Given the description of an element on the screen output the (x, y) to click on. 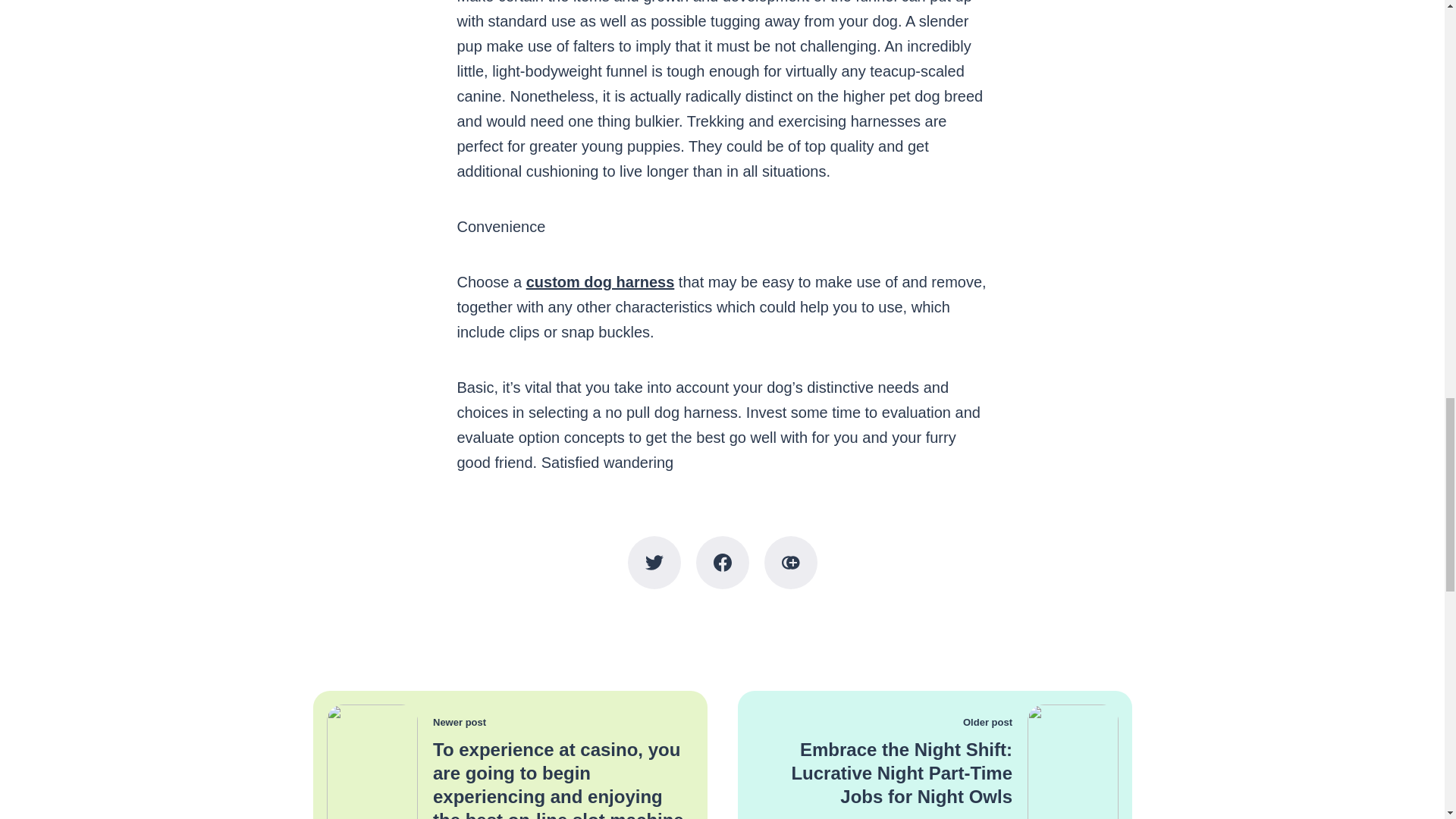
custom dog harness (600, 281)
